Given the description of an element on the screen output the (x, y) to click on. 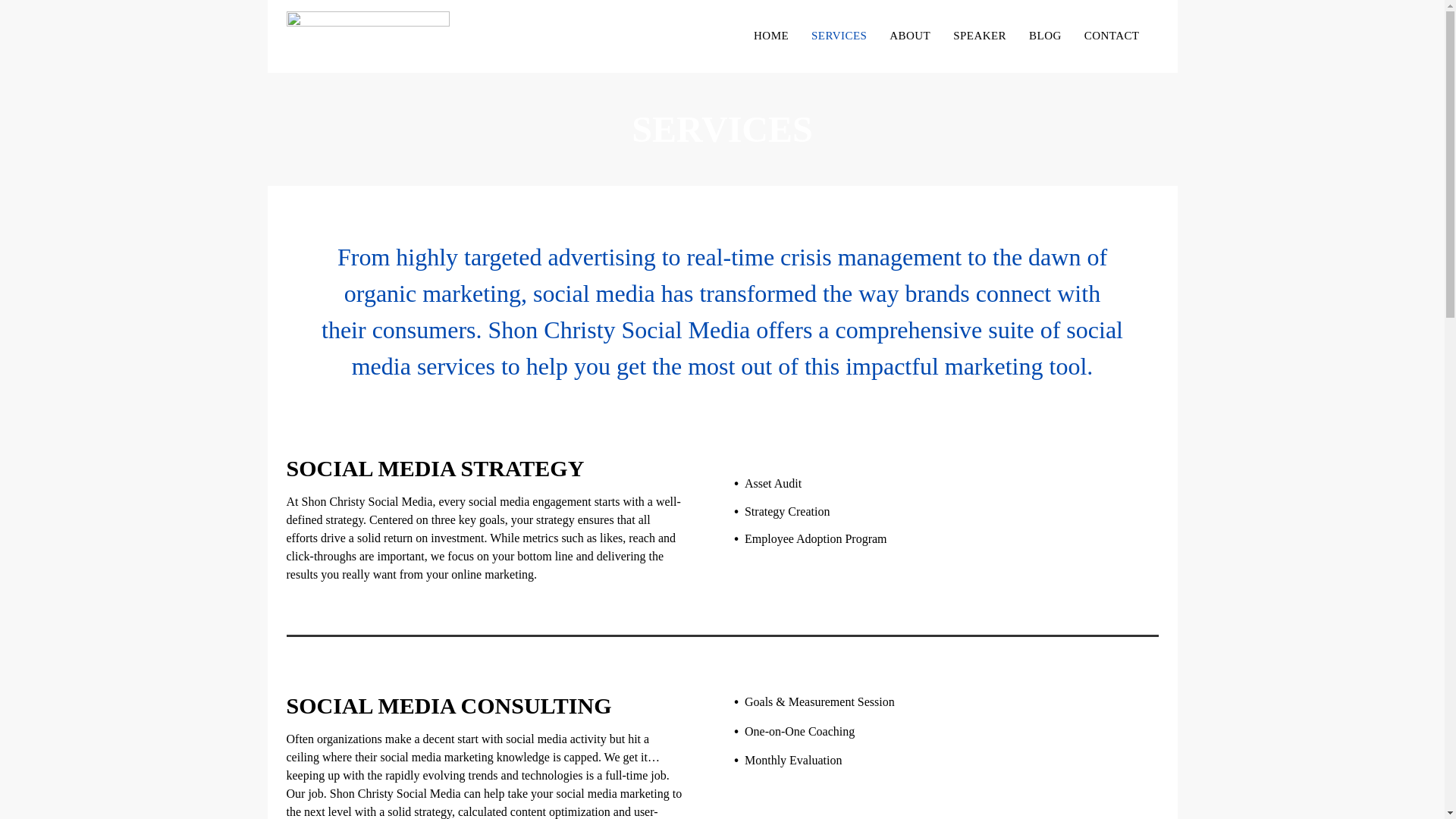
SPEAKER (979, 35)
BLOG (1045, 35)
SERVICES (838, 35)
CONTACT (1112, 35)
HOME (770, 35)
ABOUT (909, 35)
